Given the description of an element on the screen output the (x, y) to click on. 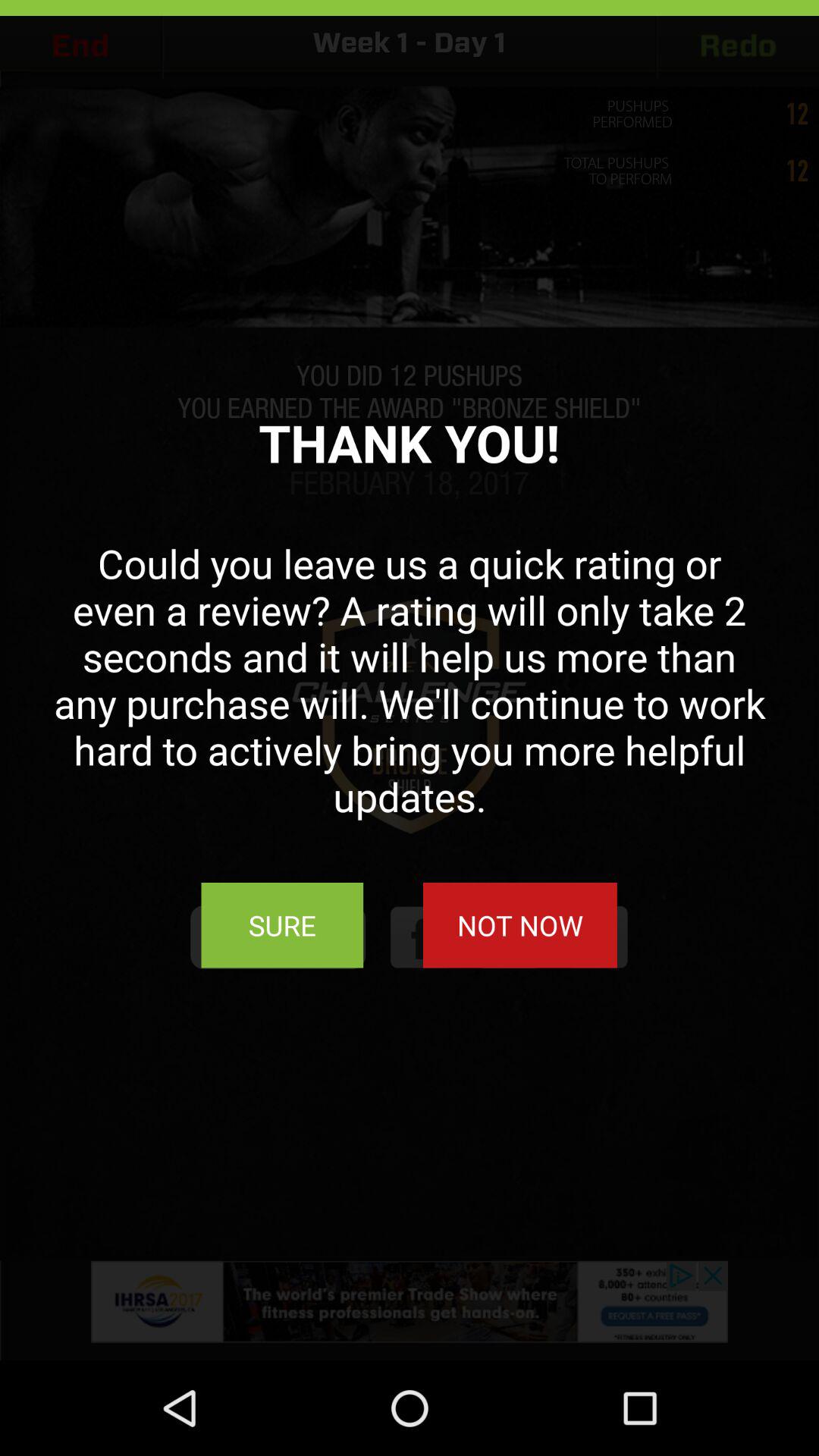
swipe until sure (282, 925)
